Given the description of an element on the screen output the (x, y) to click on. 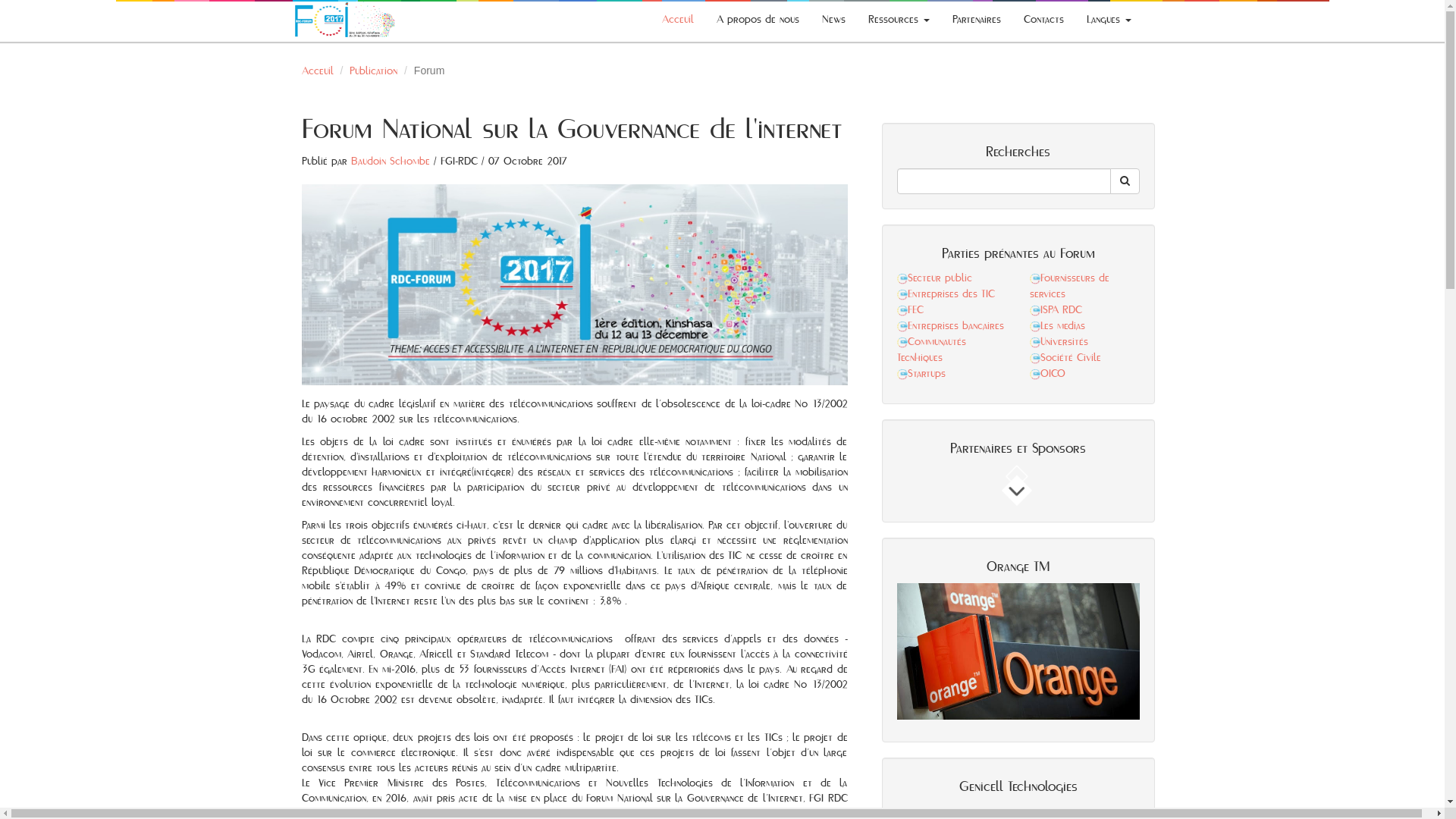
Entreprises bancaires Element type: text (949, 325)
Les medias Element type: text (1057, 325)
Ressources Element type: text (898, 19)
A propos de nous Element type: text (757, 19)
FEC Element type: text (909, 309)
ISPA RDC Element type: text (1055, 309)
Entreprises des TIC Element type: text (945, 293)
Startups Element type: text (920, 373)
News Element type: text (832, 19)
Acceuil Element type: text (677, 19)
Contacts Element type: text (1042, 19)
Baudoin Schombe Element type: text (389, 161)
Publication Element type: text (373, 70)
Partenaires Element type: text (975, 19)
Secteur public Element type: text (933, 278)
OICO Element type: text (1047, 373)
Langues Element type: text (1108, 19)
Fournisseurs de services Element type: text (1069, 286)
Acceuil Element type: text (317, 70)
